Given the description of an element on the screen output the (x, y) to click on. 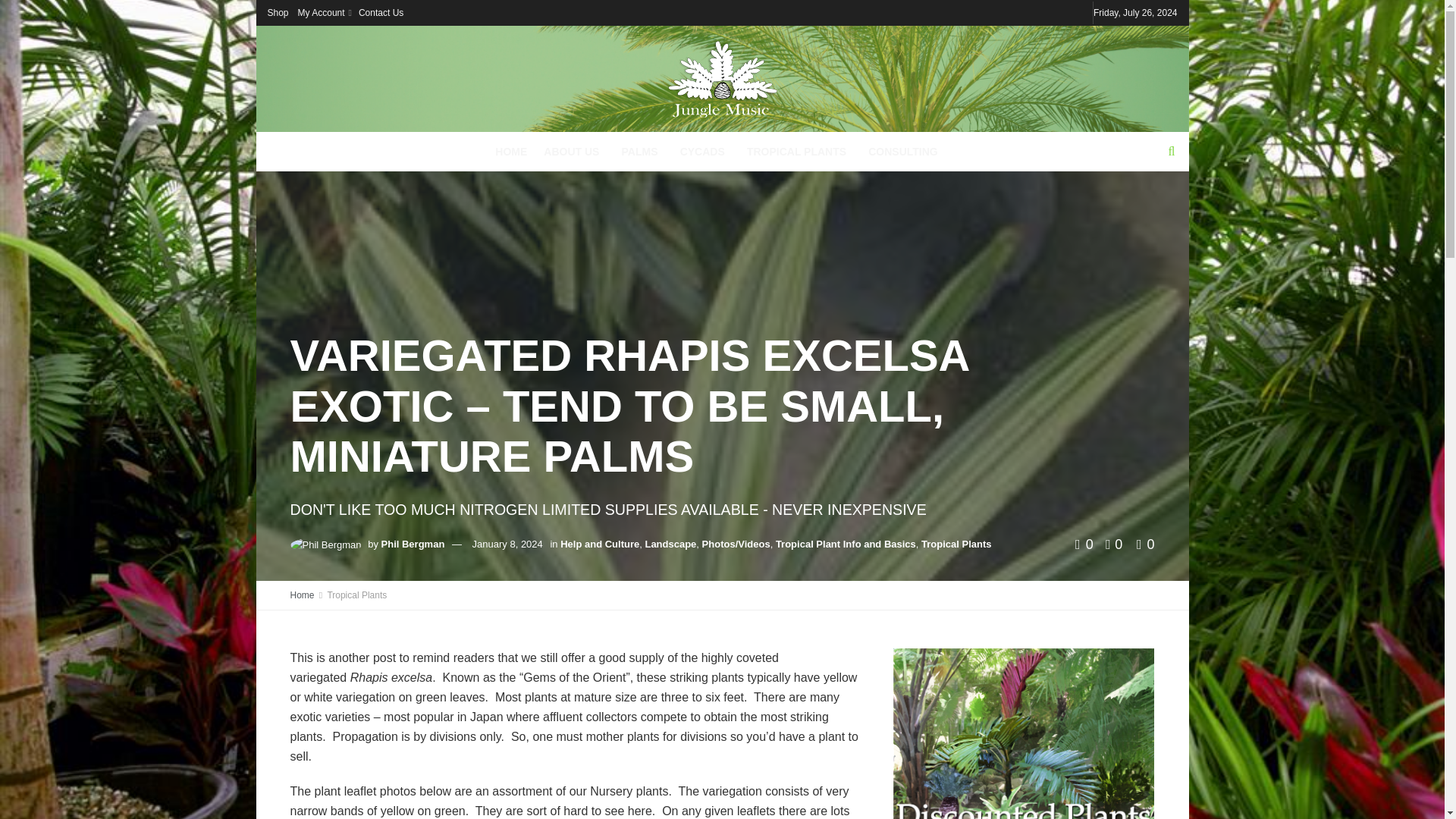
ABOUT US (573, 151)
Contact Us (380, 12)
CONSULTING (902, 151)
HOME (511, 151)
CYCADS (704, 151)
My Account (323, 12)
TROPICAL PLANTS (798, 151)
PALMS (642, 151)
